Given the description of an element on the screen output the (x, y) to click on. 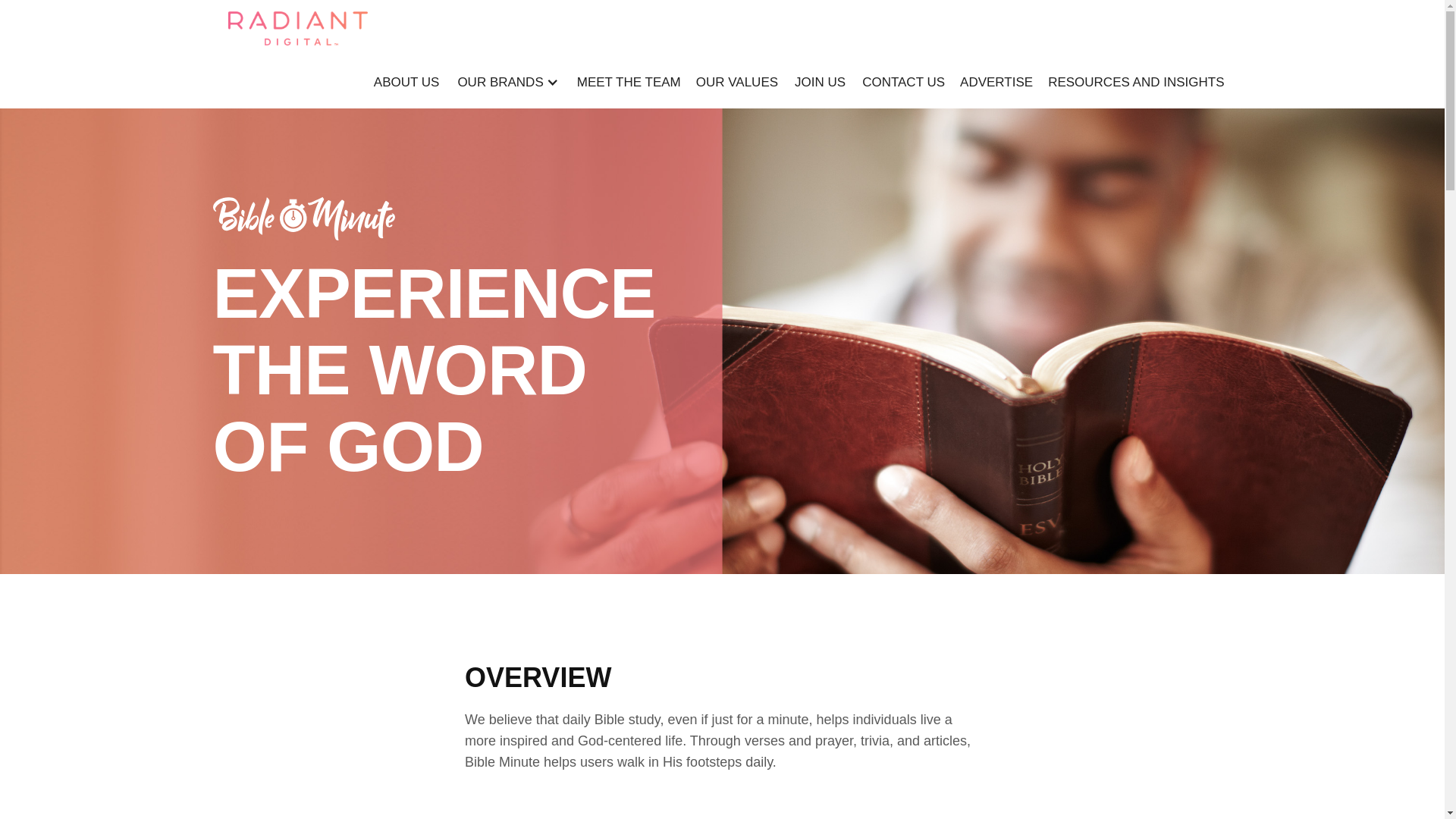
JOIN US (820, 82)
OUR VALUES (737, 82)
ADVERTISE (996, 82)
CONTACT US (903, 82)
RESOURCES AND INSIGHTS (1136, 82)
MEET THE TEAM (628, 82)
ABOUT US (406, 82)
